Given the description of an element on the screen output the (x, y) to click on. 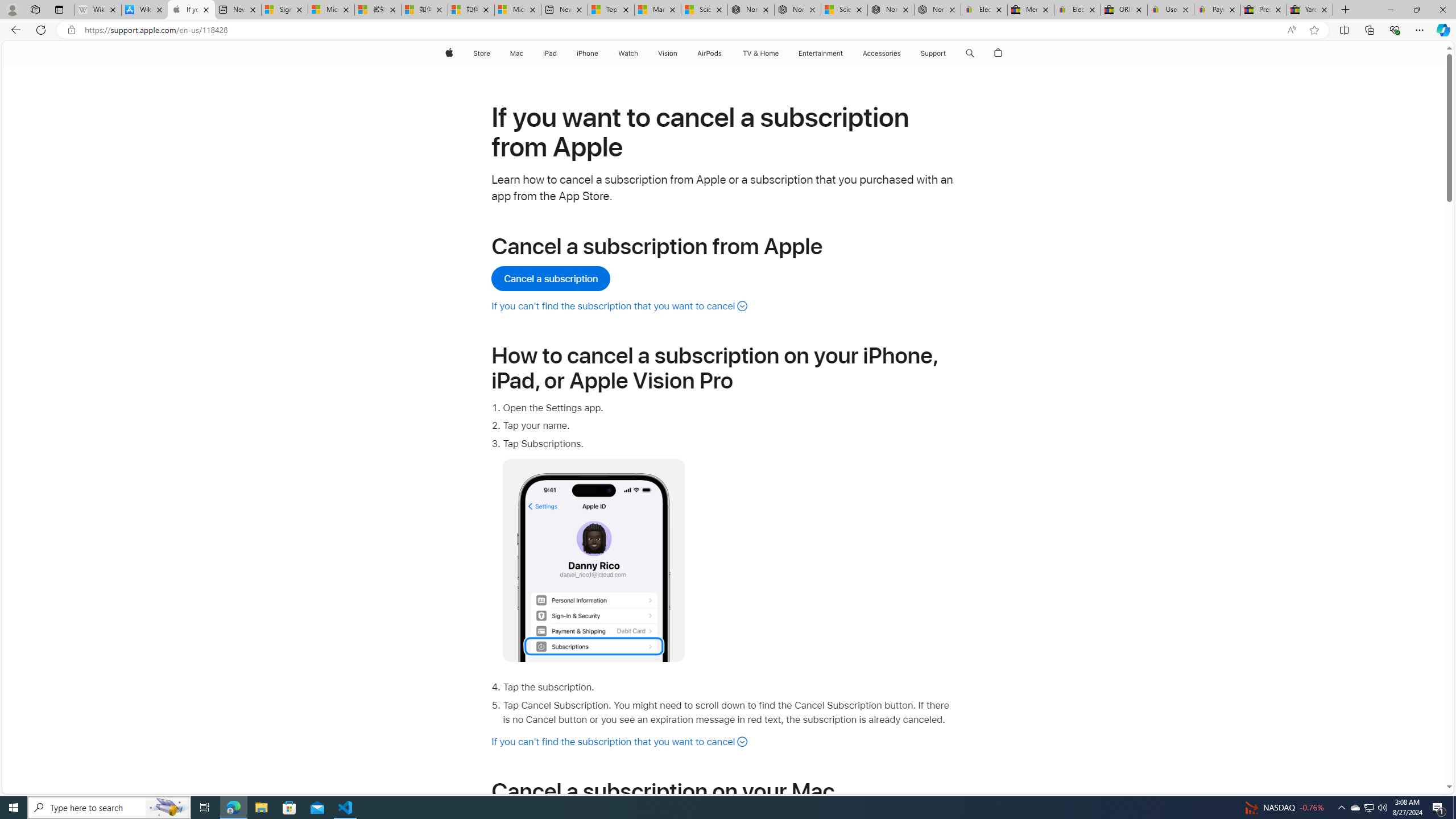
Entertainment menu (844, 53)
Support (932, 53)
iPad (550, 53)
Microsoft account | Account Checkup (517, 9)
Payments Terms of Use | eBay.com (1216, 9)
